Given the description of an element on the screen output the (x, y) to click on. 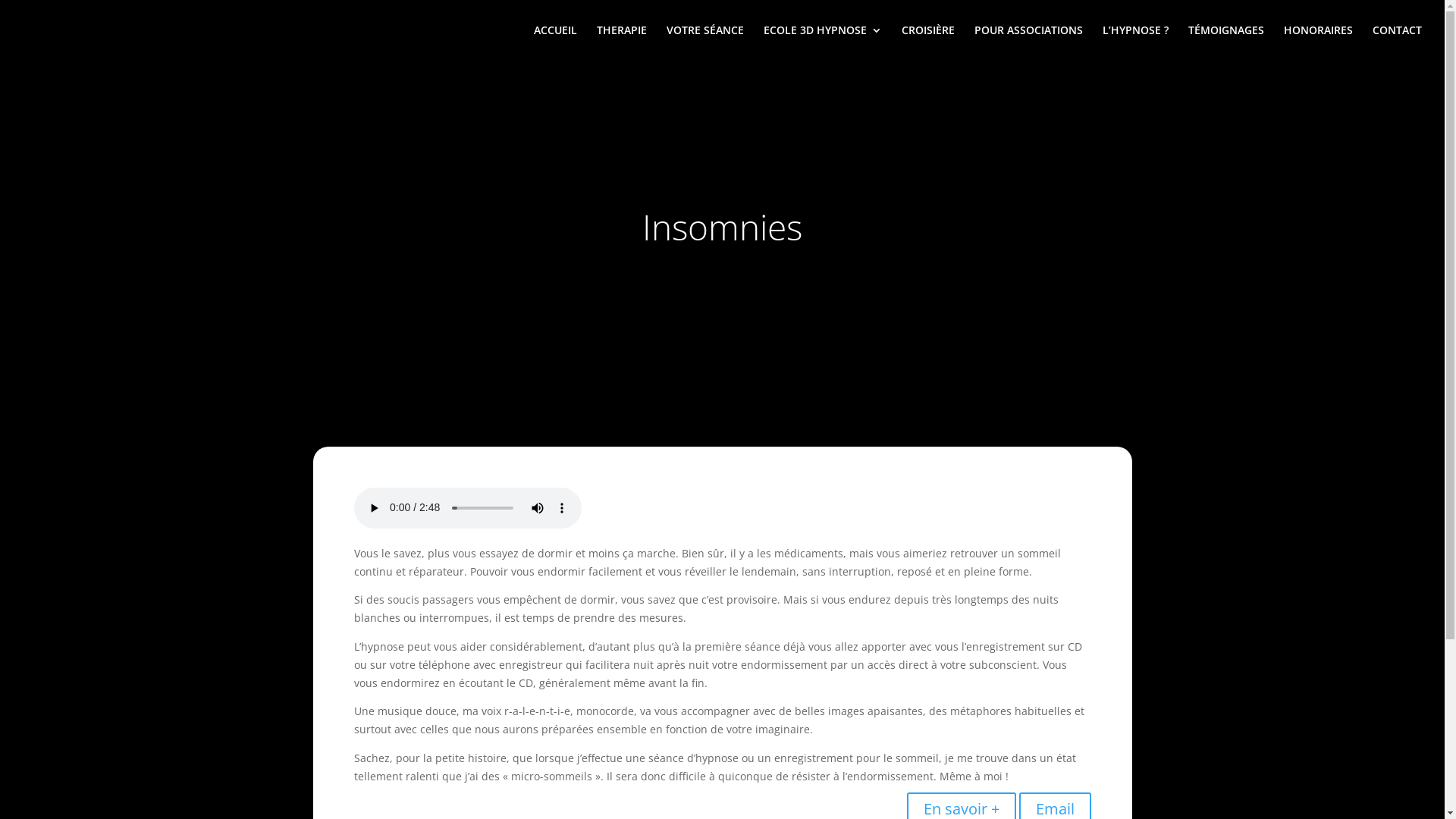
ACCUEIL Element type: text (555, 42)
THERAPIE Element type: text (621, 42)
HONORAIRES Element type: text (1317, 42)
POUR ASSOCIATIONS Element type: text (1028, 42)
CONTACT Element type: text (1396, 42)
ECOLE 3D HYPNOSE Element type: text (822, 42)
